Given the description of an element on the screen output the (x, y) to click on. 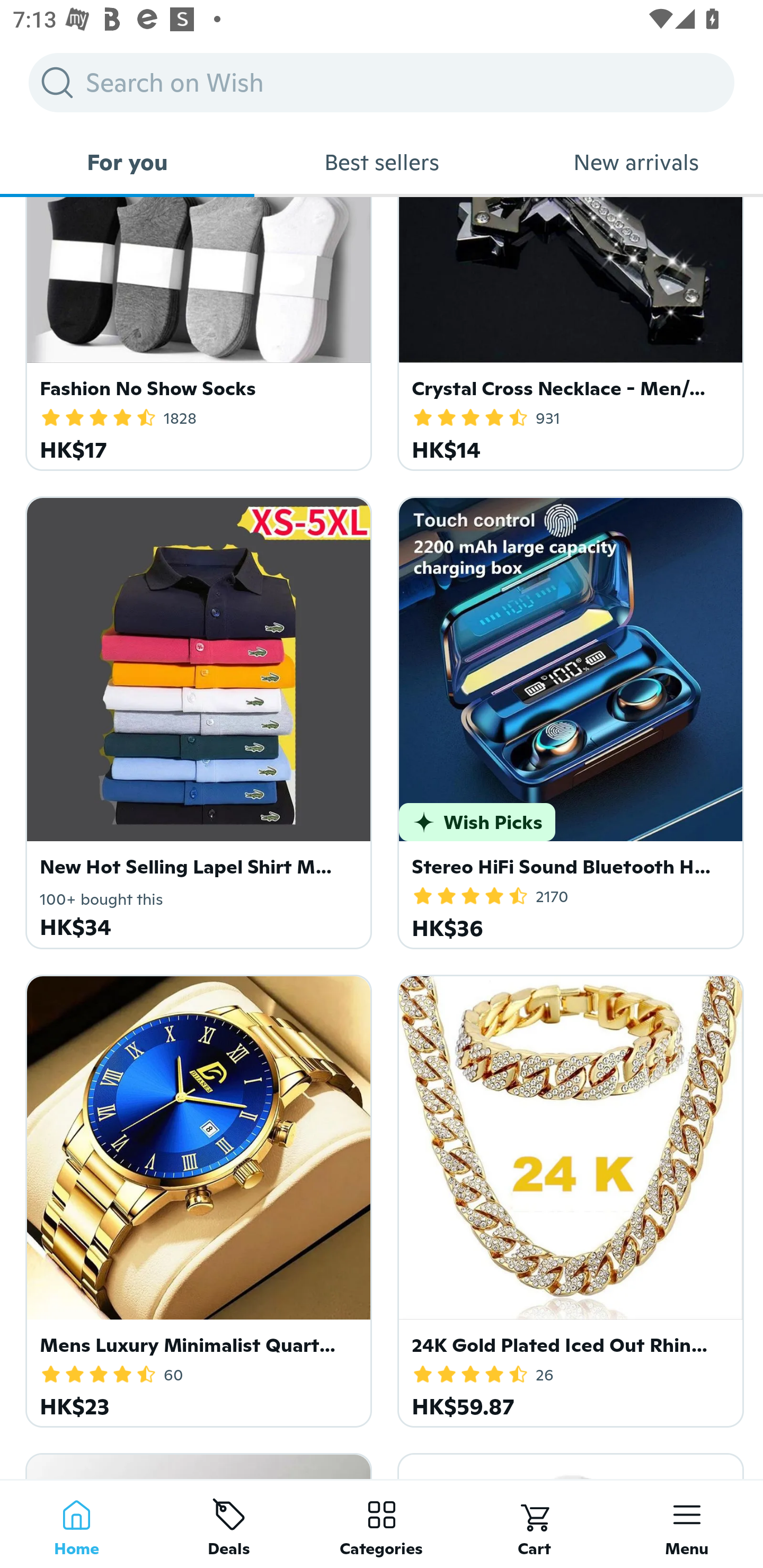
Search on Wish (381, 82)
For you (127, 161)
Best sellers (381, 161)
New arrivals (635, 161)
Fashion No Show Socks 4.3 Star Rating 1828 HK$17 (195, 333)
Home (76, 1523)
Deals (228, 1523)
Categories (381, 1523)
Cart (533, 1523)
Menu (686, 1523)
